Given the description of an element on the screen output the (x, y) to click on. 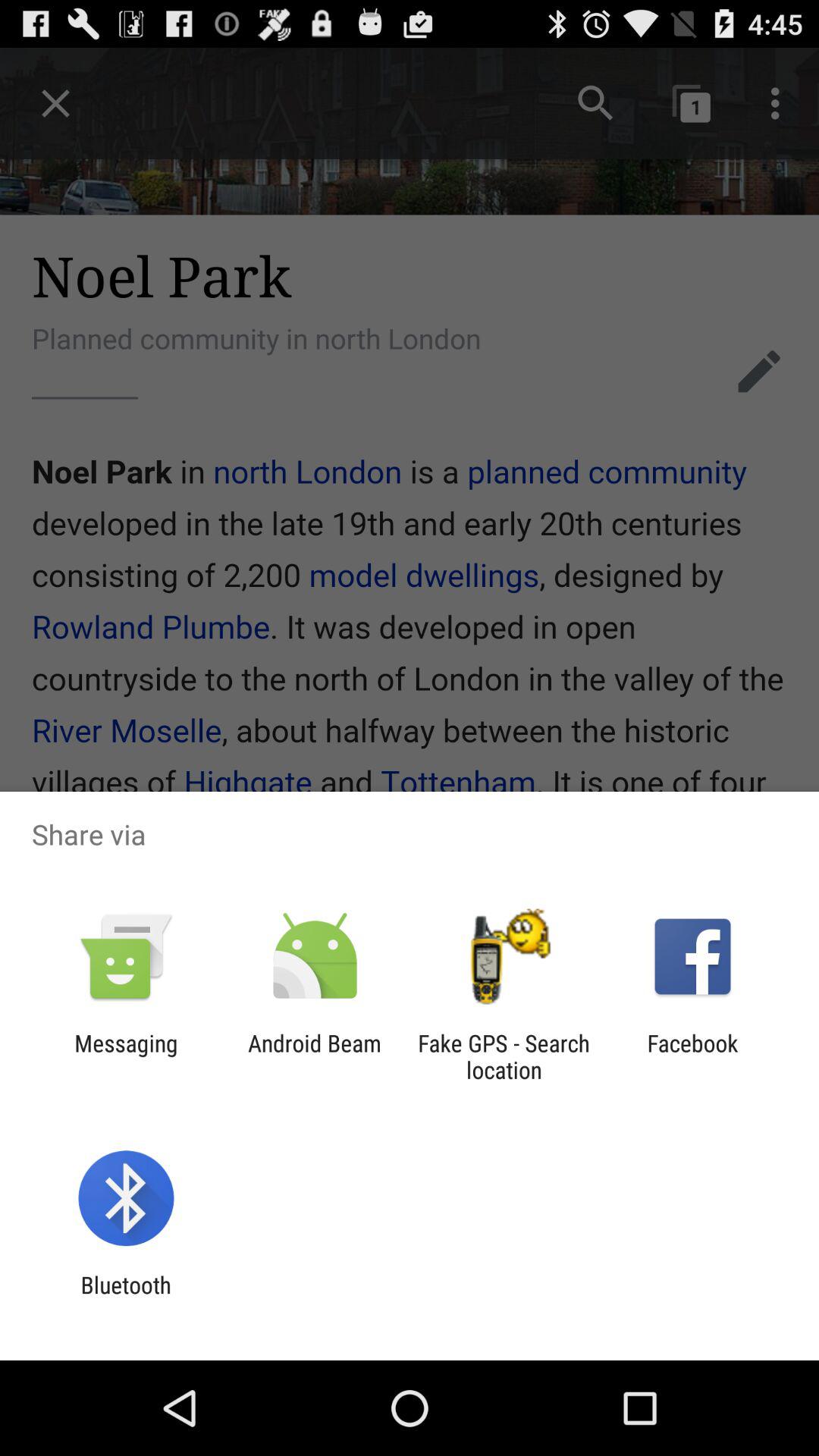
choose the android beam app (314, 1056)
